Given the description of an element on the screen output the (x, y) to click on. 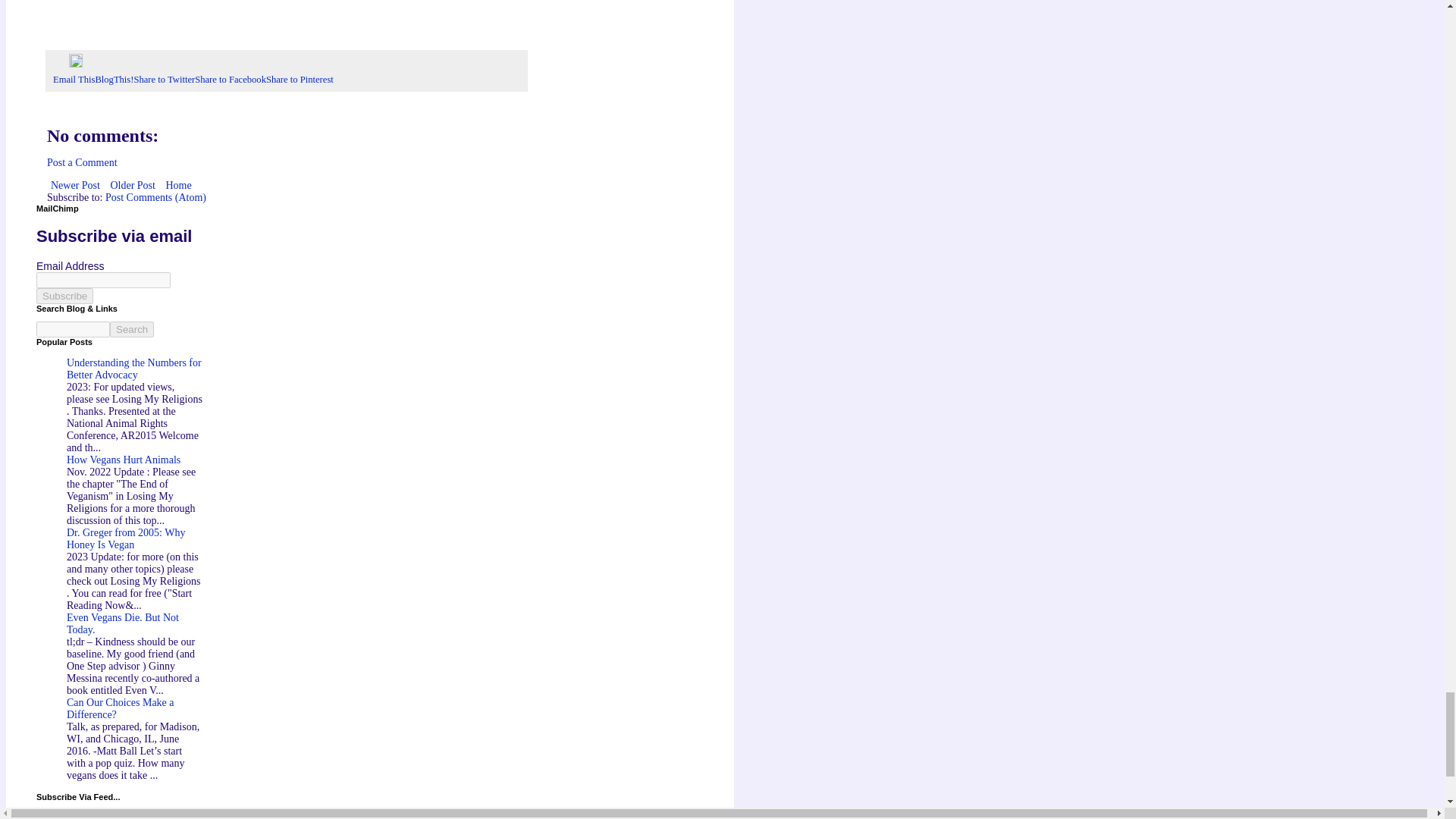
BlogThis! (113, 79)
Older Post (132, 185)
Search (132, 329)
Subscribe (64, 295)
Subscribe (64, 295)
Share to Facebook (230, 79)
Search (132, 329)
Share to Pinterest (299, 79)
Can Our Choices Make a Difference? (120, 708)
Older Post (132, 185)
Search (132, 329)
BlogThis! (113, 79)
Share to Twitter (164, 79)
search (73, 329)
search (132, 329)
